Given the description of an element on the screen output the (x, y) to click on. 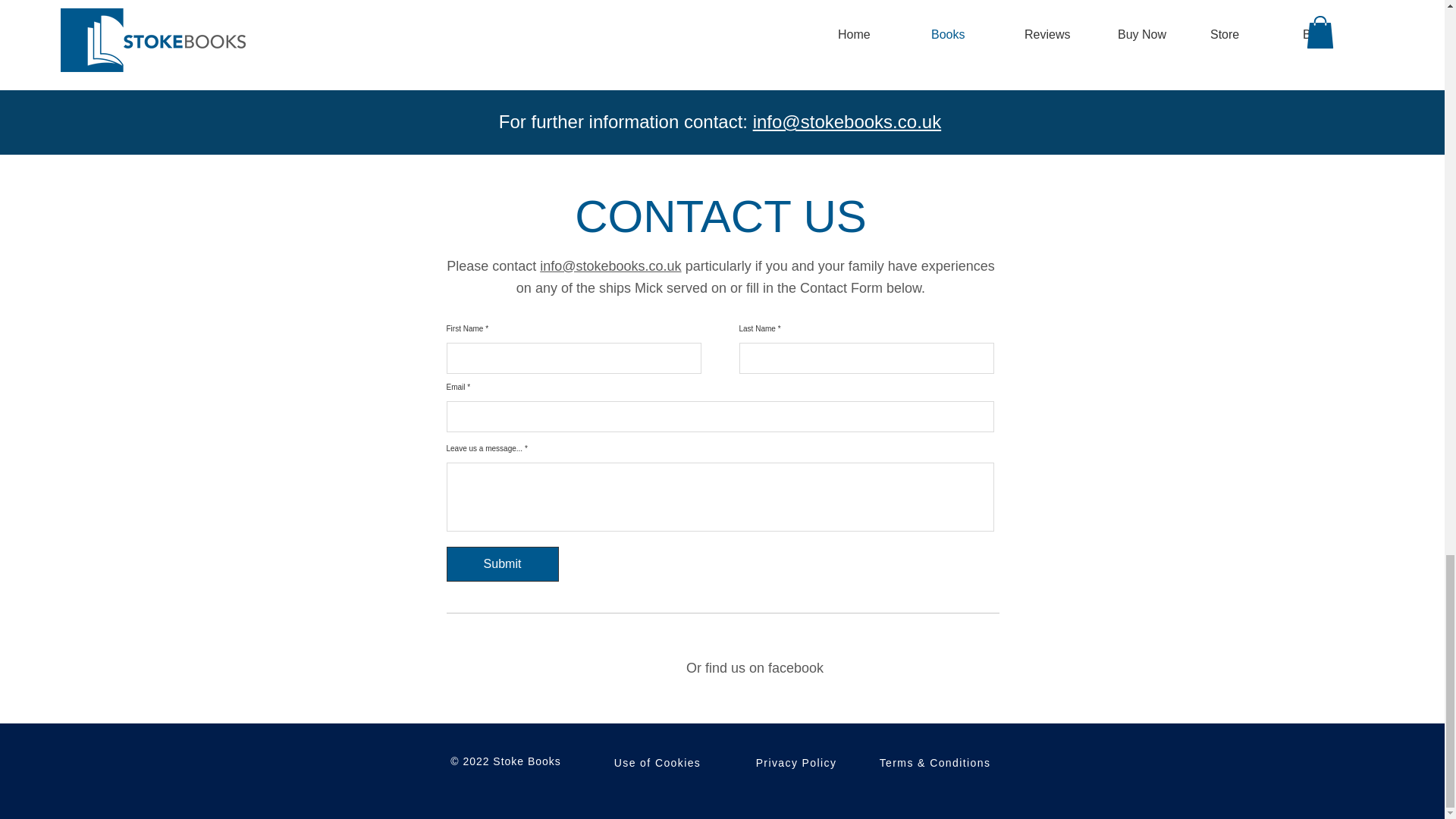
Use of Cookies (659, 762)
Privacy Policy (797, 762)
Submit (501, 564)
